Given the description of an element on the screen output the (x, y) to click on. 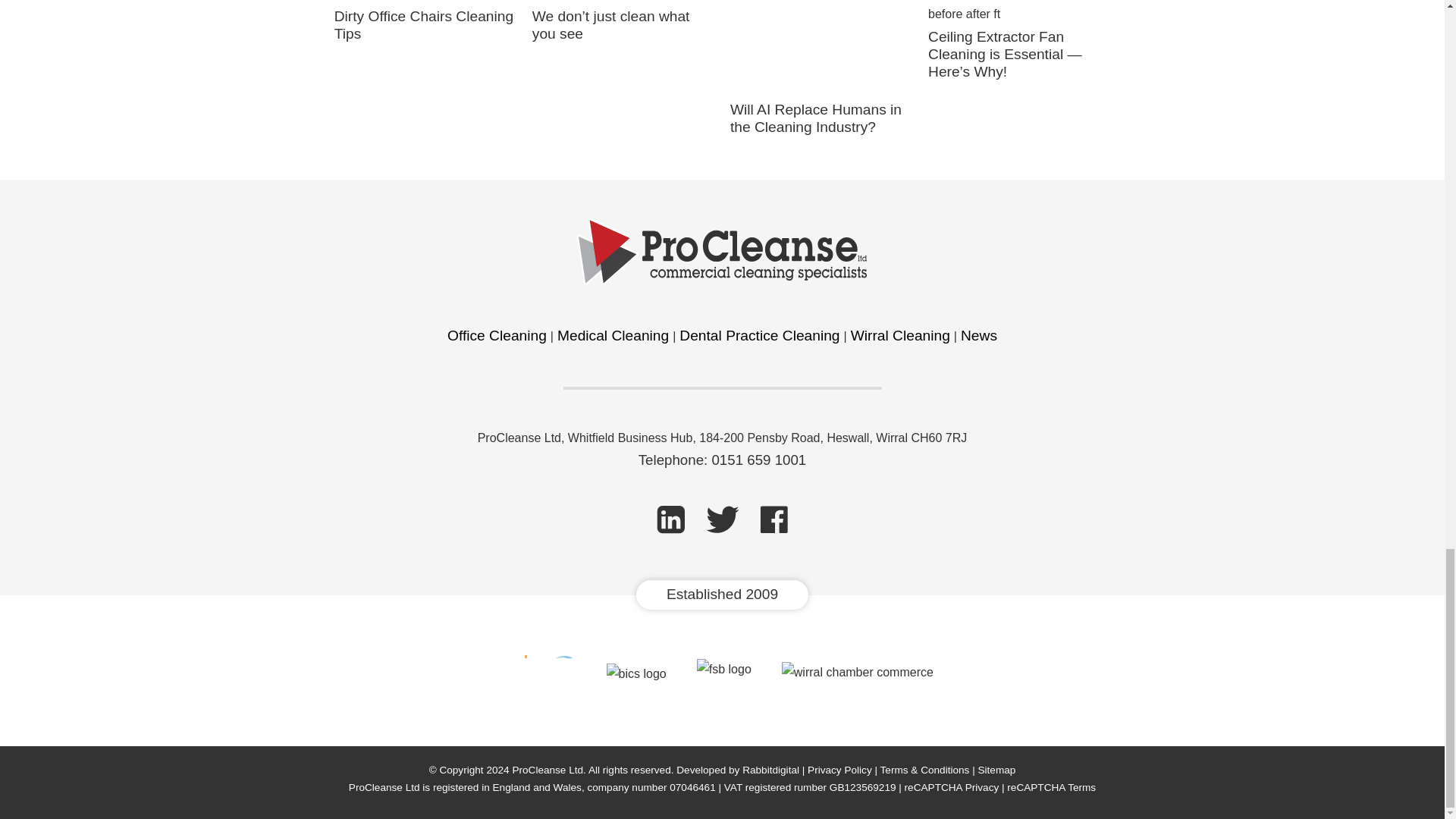
Will AI Replace Humans in the Cleaning Industry? (815, 118)
Office Cleaning Wirral, Chester and North West (497, 335)
Rabbitdigital, Cheshire. (770, 769)
Dirty Office Chairs Cleaning Tips (423, 24)
